Given the description of an element on the screen output the (x, y) to click on. 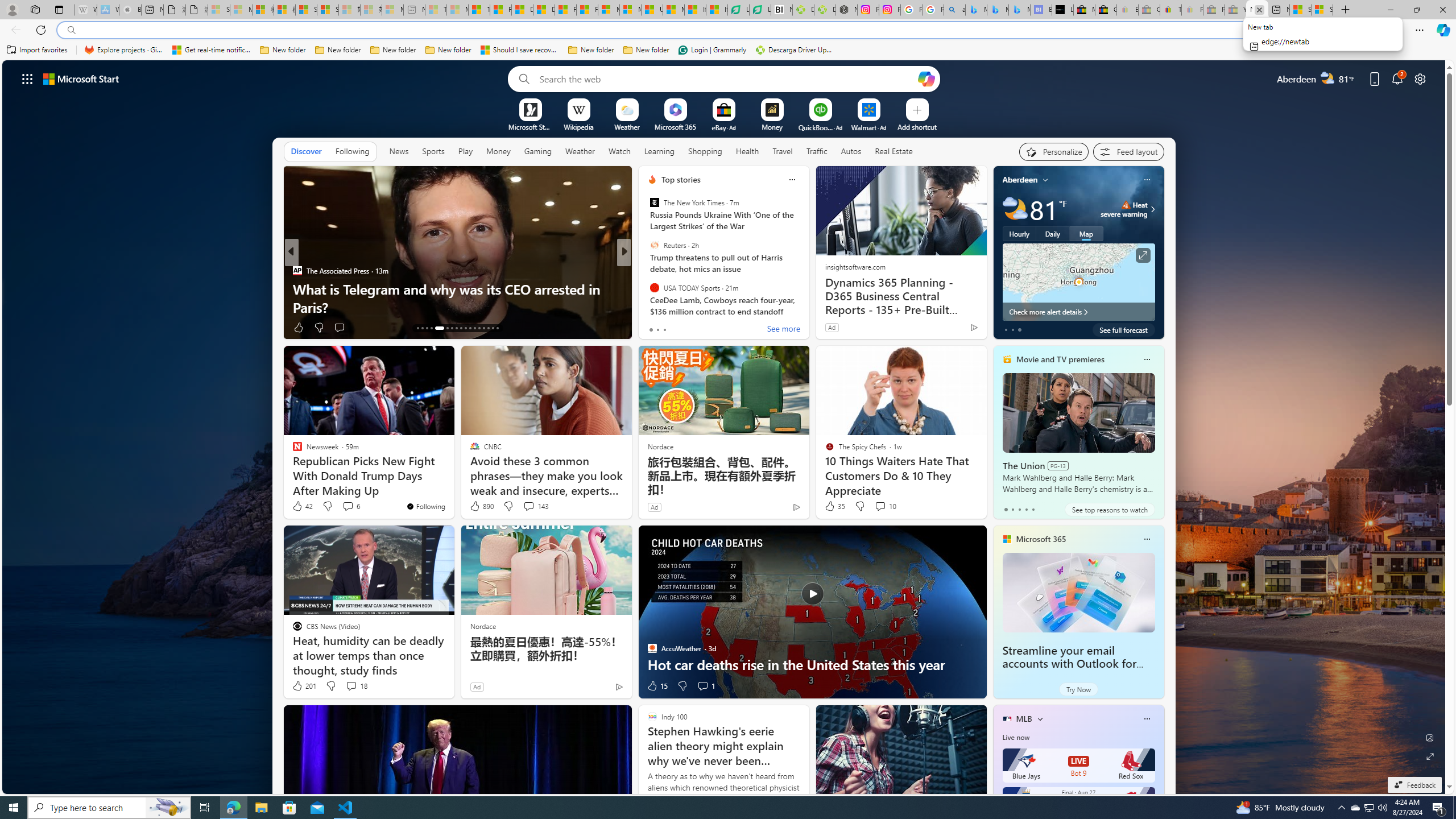
Play (465, 151)
AutomationID: tab-33 (497, 328)
15 Like (657, 685)
AutomationID: tab-22 (465, 328)
Partly cloudy (1014, 208)
Heat - Severe (1126, 204)
Wikipedia (578, 126)
Add a site (916, 126)
Wikipedia - Sleeping (85, 9)
Daily (1052, 233)
